Given the description of an element on the screen output the (x, y) to click on. 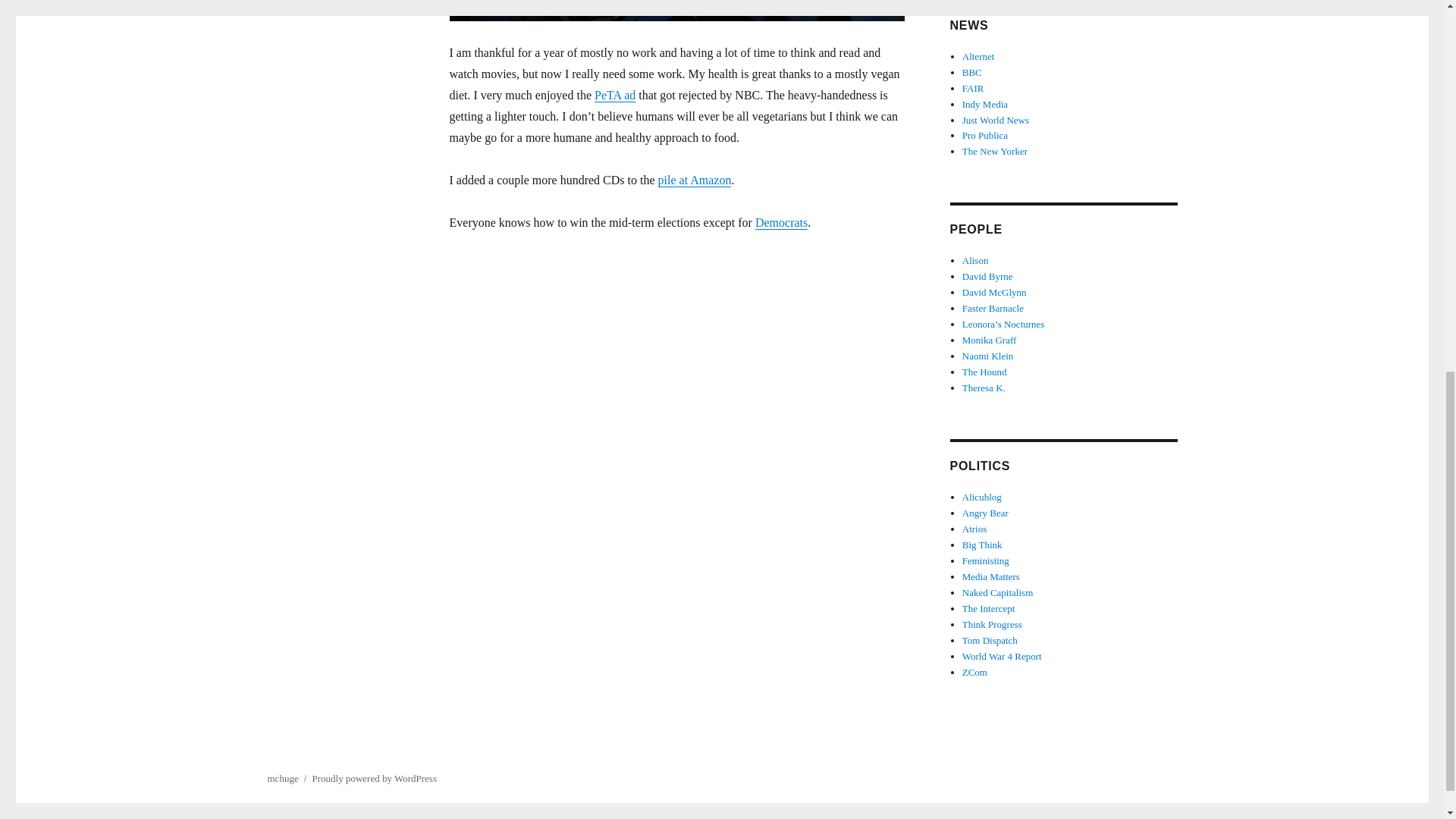
PeTA ad (614, 94)
Democrats (781, 222)
pile at Amazon (695, 179)
